Given the description of an element on the screen output the (x, y) to click on. 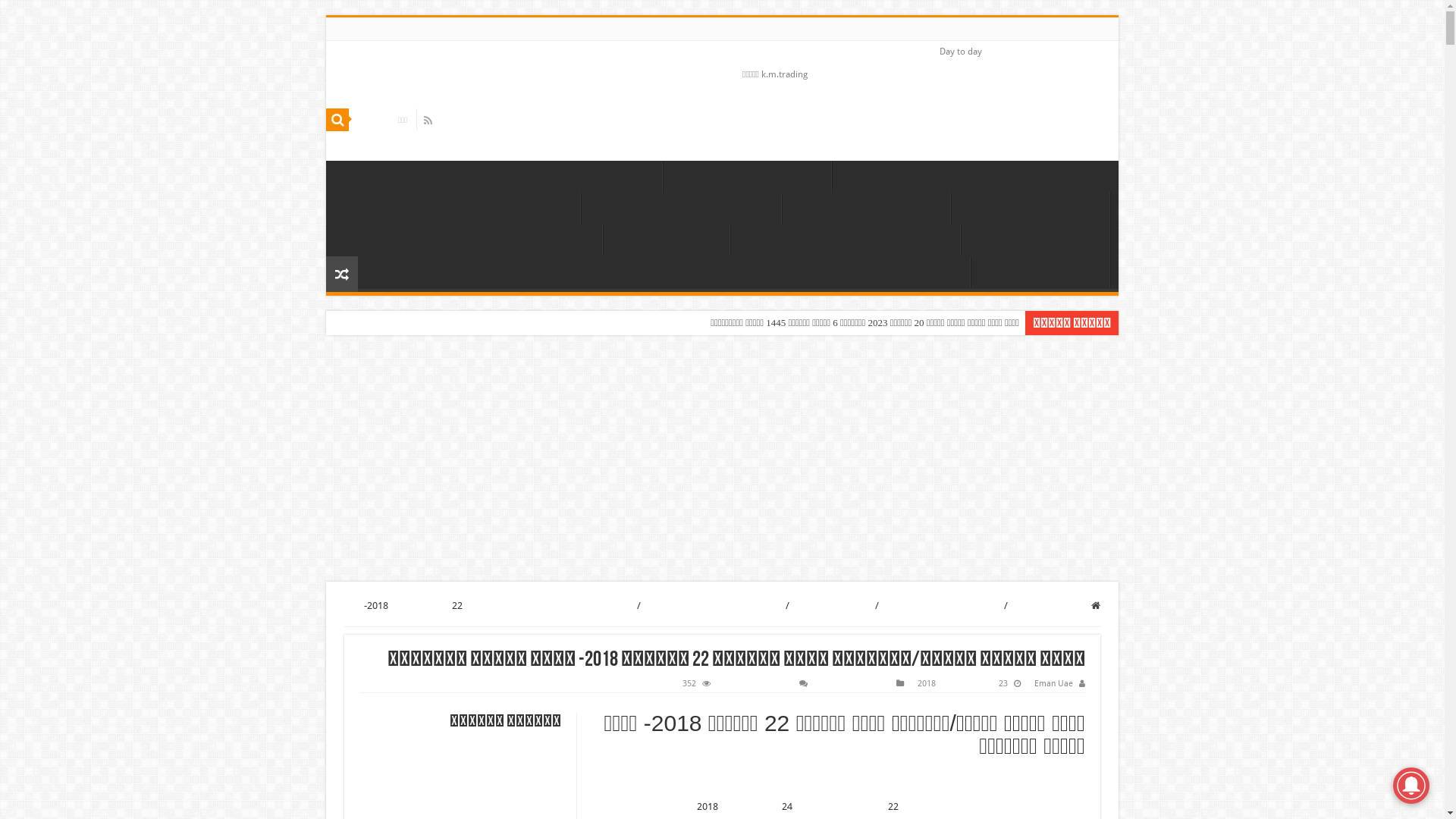
Eman Uae Element type: text (1053, 683)
Rss Element type: hover (427, 120)
Advertisement Element type: hover (721, 460)
